Given the description of an element on the screen output the (x, y) to click on. 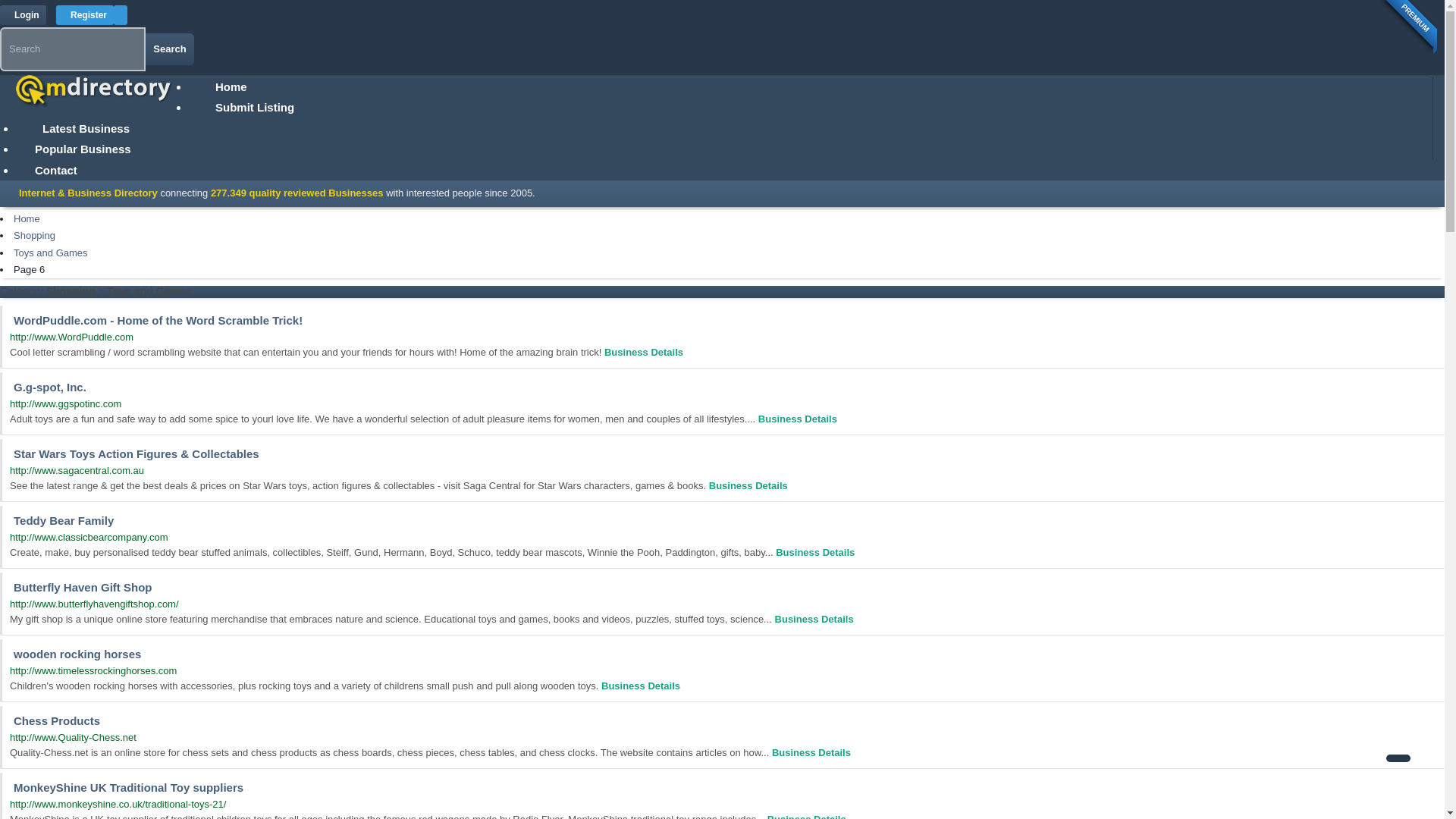
Search (169, 49)
Business Details (810, 752)
Contact (56, 170)
Register (84, 14)
More about: Teddy Bear Family (815, 552)
Business Details (797, 419)
Business Details (640, 685)
Submit Listing (254, 107)
More about: MonkeyShine UK Traditional Toy suppliers (806, 816)
Home (231, 86)
Business Details (815, 552)
Shopping (34, 235)
Toys and Games (50, 252)
